Given the description of an element on the screen output the (x, y) to click on. 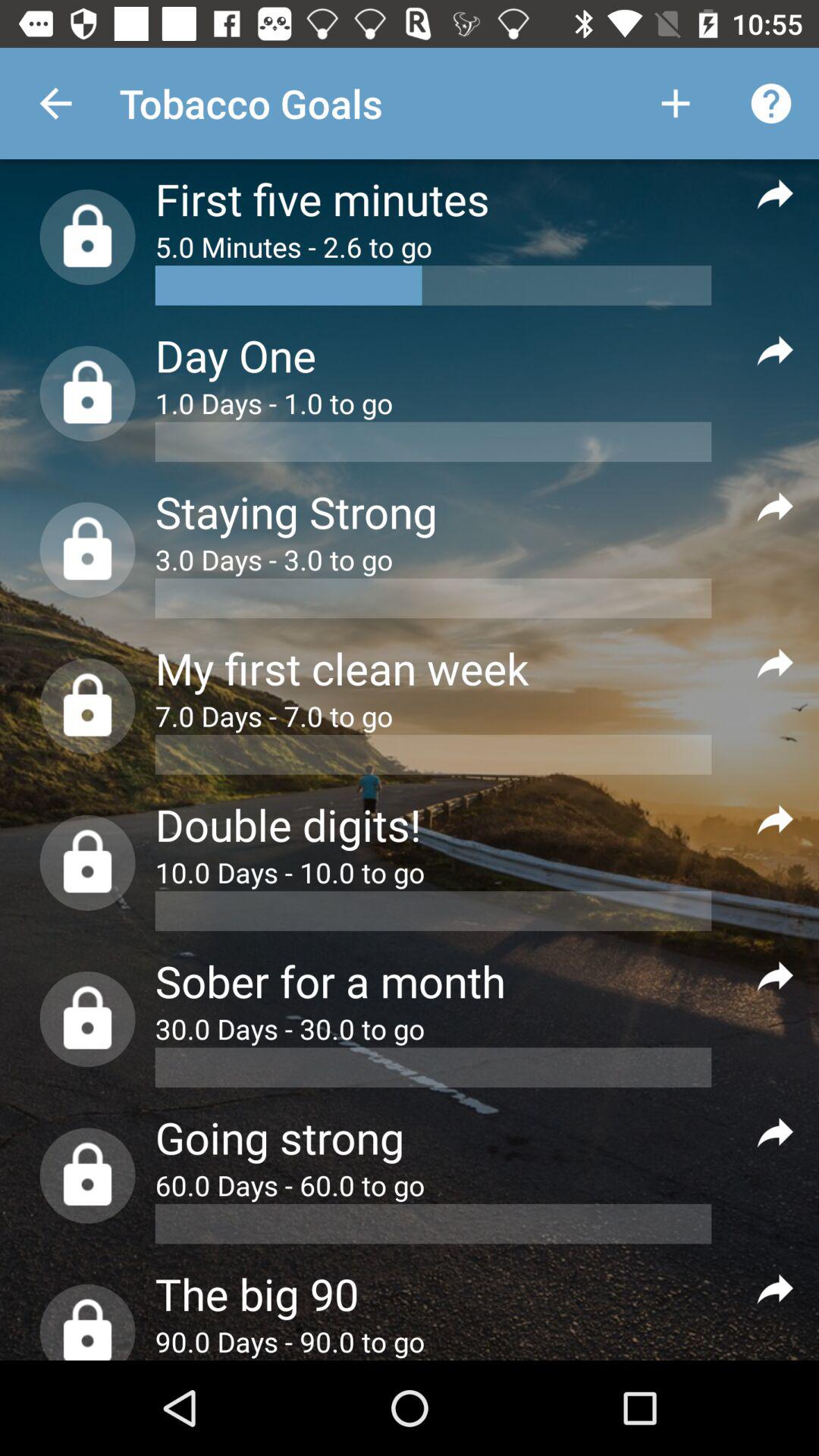
open the item to the left of tobacco goals (55, 103)
